Given the description of an element on the screen output the (x, y) to click on. 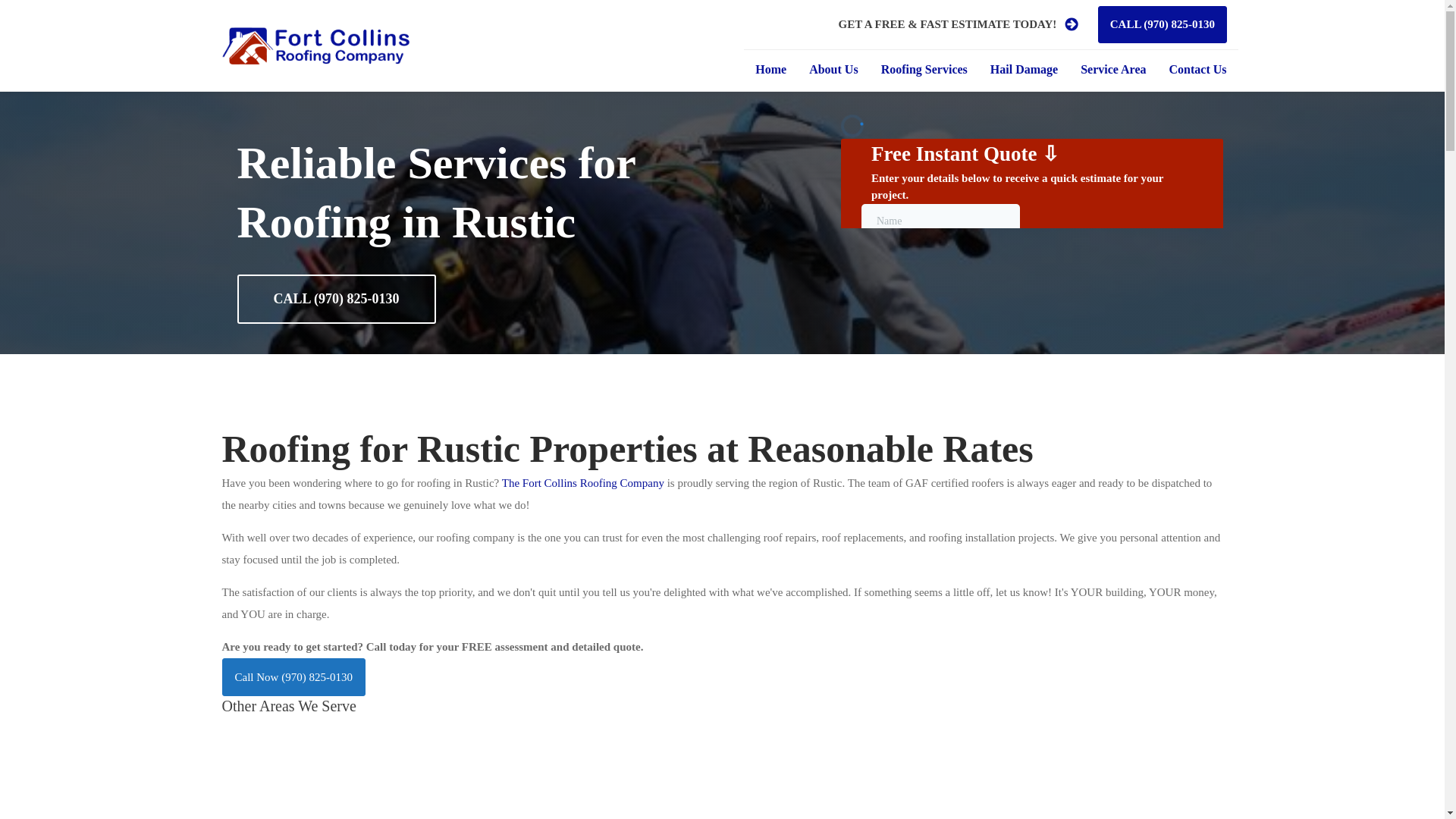
Roofing Services (923, 68)
Home (770, 68)
The Fort Collins Roofing Company (582, 482)
Service Area (1112, 68)
Contact Us (1197, 68)
Hail Damage (1023, 68)
About Us (833, 68)
Other Areas We Serve (288, 705)
